Given the description of an element on the screen output the (x, y) to click on. 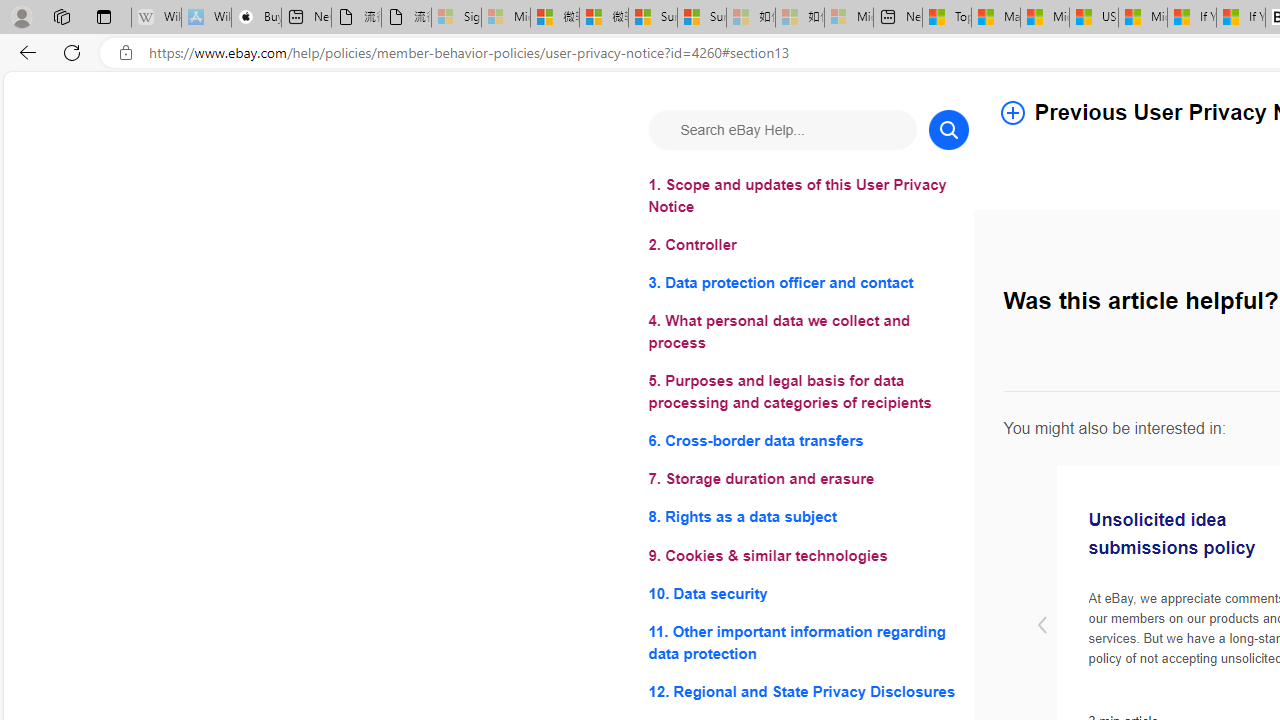
6. Cross-border data transfers (807, 440)
Buy iPad - Apple (256, 17)
1. Scope and updates of this User Privacy Notice (807, 196)
Search eBay Help... (781, 129)
Previous slide (1041, 626)
3. Data protection officer and contact (807, 283)
Microsoft Services Agreement - Sleeping (505, 17)
1. Scope and updates of this User Privacy Notice (807, 196)
11. Other important information regarding data protection (807, 642)
7. Storage duration and erasure (807, 479)
2. Controller (807, 245)
